Given the description of an element on the screen output the (x, y) to click on. 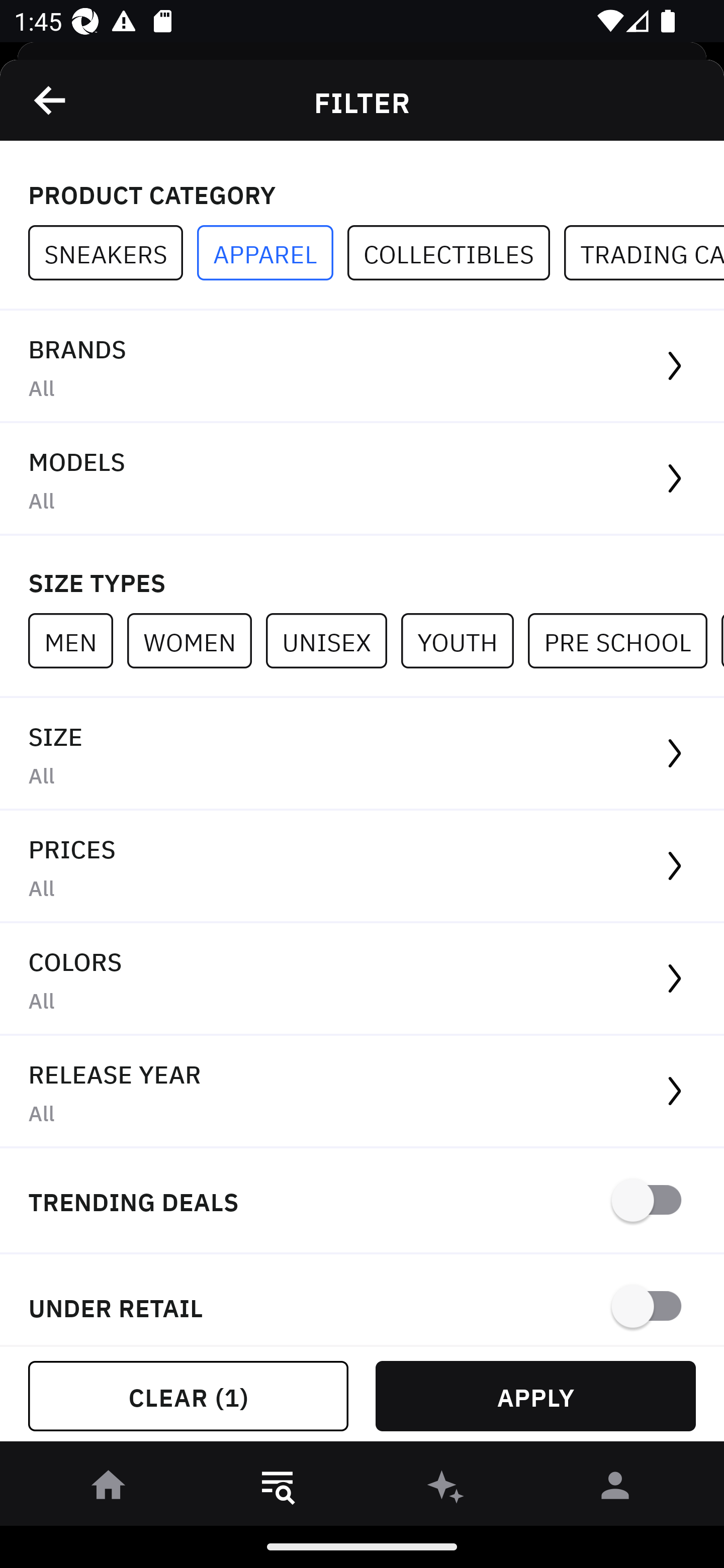
 (50, 100)
SNEAKERS (112, 252)
APPAREL (271, 252)
COLLECTIBLES (455, 252)
TRADING CARDS (643, 252)
BRANDS All (362, 366)
MODELS All (362, 479)
MEN (77, 640)
WOMEN (196, 640)
UNISEX (333, 640)
YOUTH (464, 640)
PRE SCHOOL (624, 640)
SIZE All (362, 753)
PRICES All (362, 866)
COLORS All (362, 979)
RELEASE YEAR All (362, 1091)
TRENDING DEALS (362, 1200)
UNDER RETAIL (362, 1299)
CLEAR (1) (188, 1396)
APPLY (535, 1396)
󰋜 (108, 1488)
󱎸 (277, 1488)
󰫢 (446, 1488)
󰀄 (615, 1488)
